Given the description of an element on the screen output the (x, y) to click on. 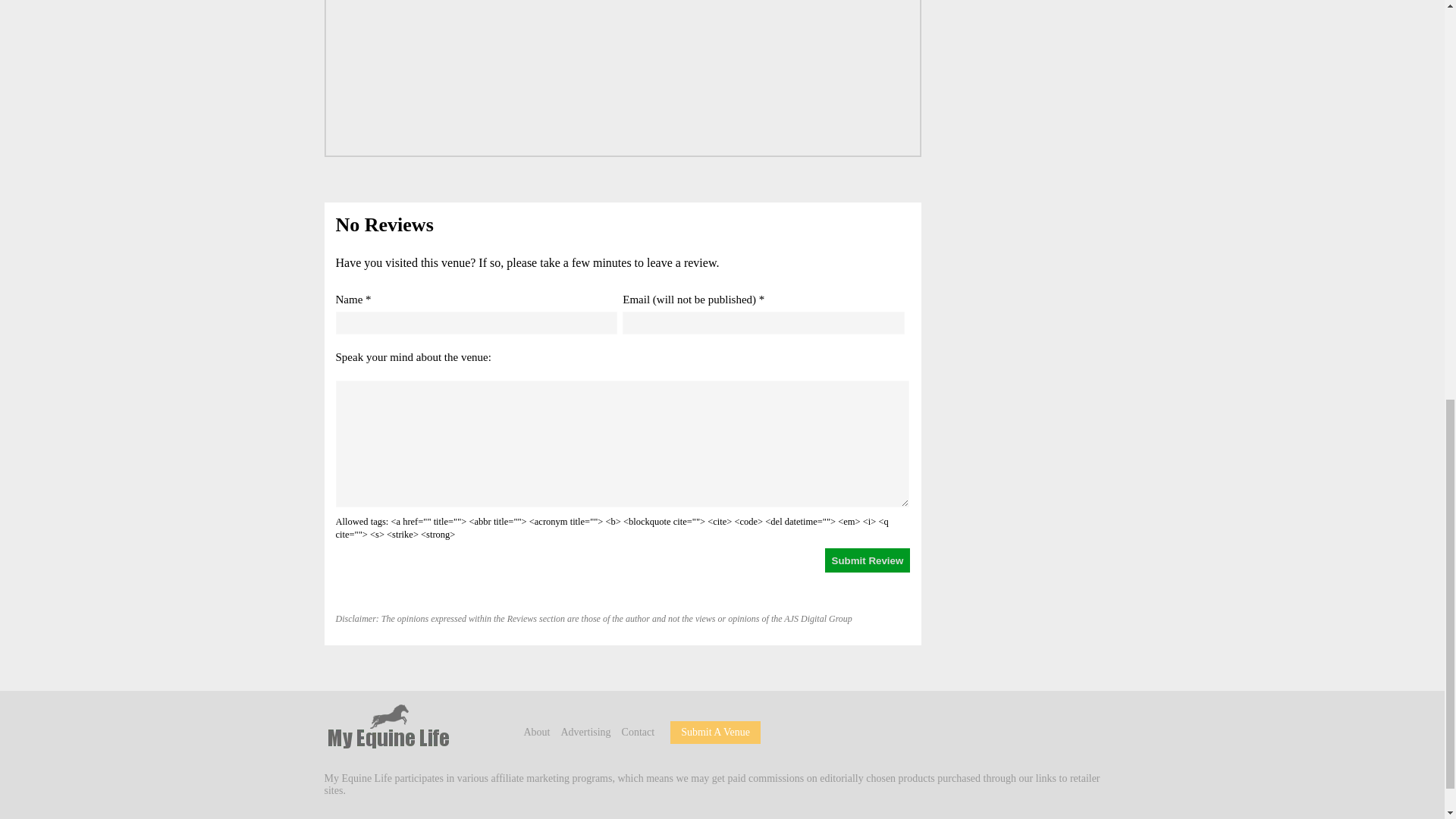
Submit Review (867, 559)
About (536, 731)
Submit A Venue (715, 731)
Contact (638, 731)
Submit Review (867, 559)
Advertising (585, 731)
